Given the description of an element on the screen output the (x, y) to click on. 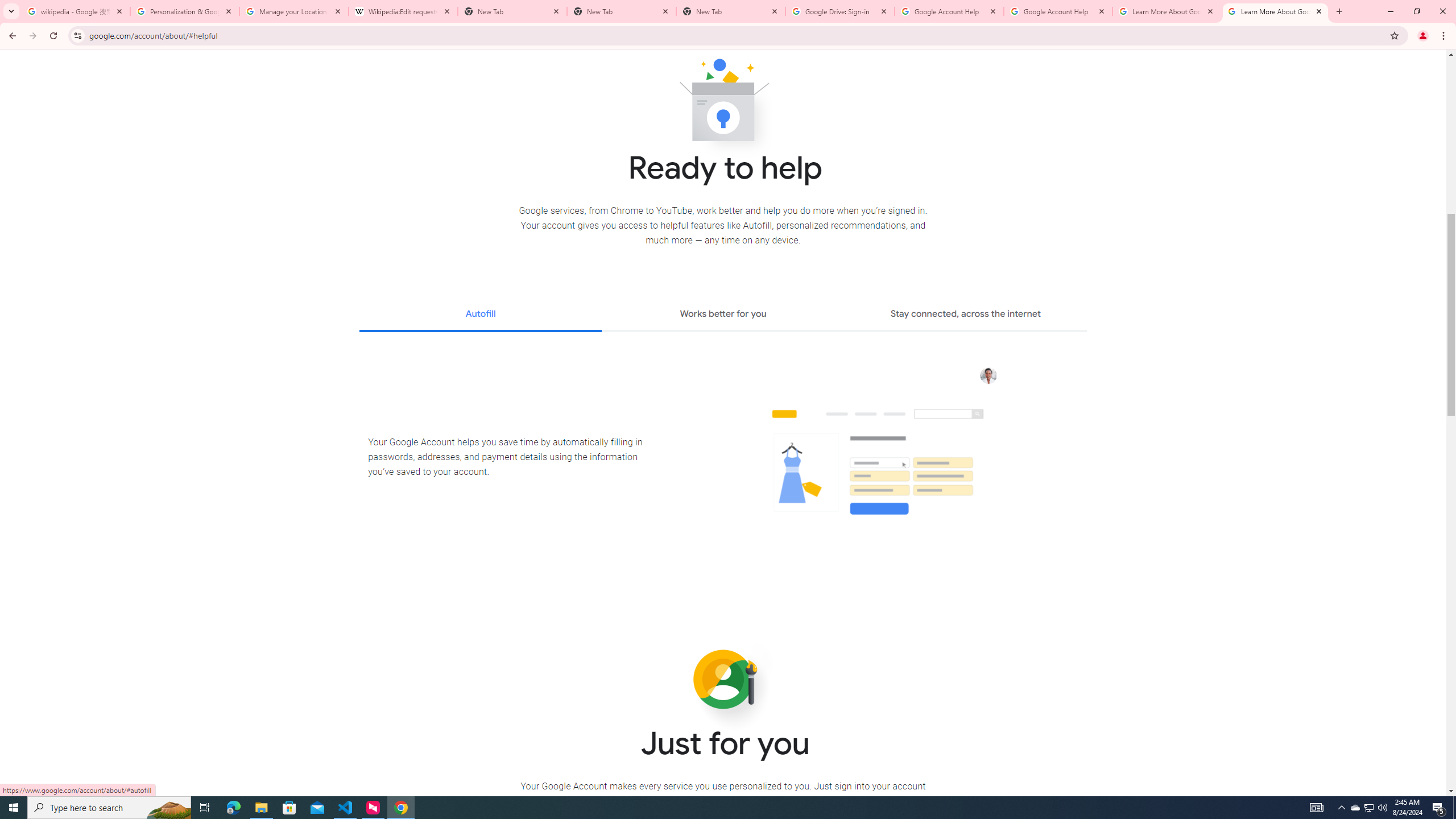
Just for you (722, 679)
Autofill (480, 315)
New Tab (621, 11)
